Given the description of an element on the screen output the (x, y) to click on. 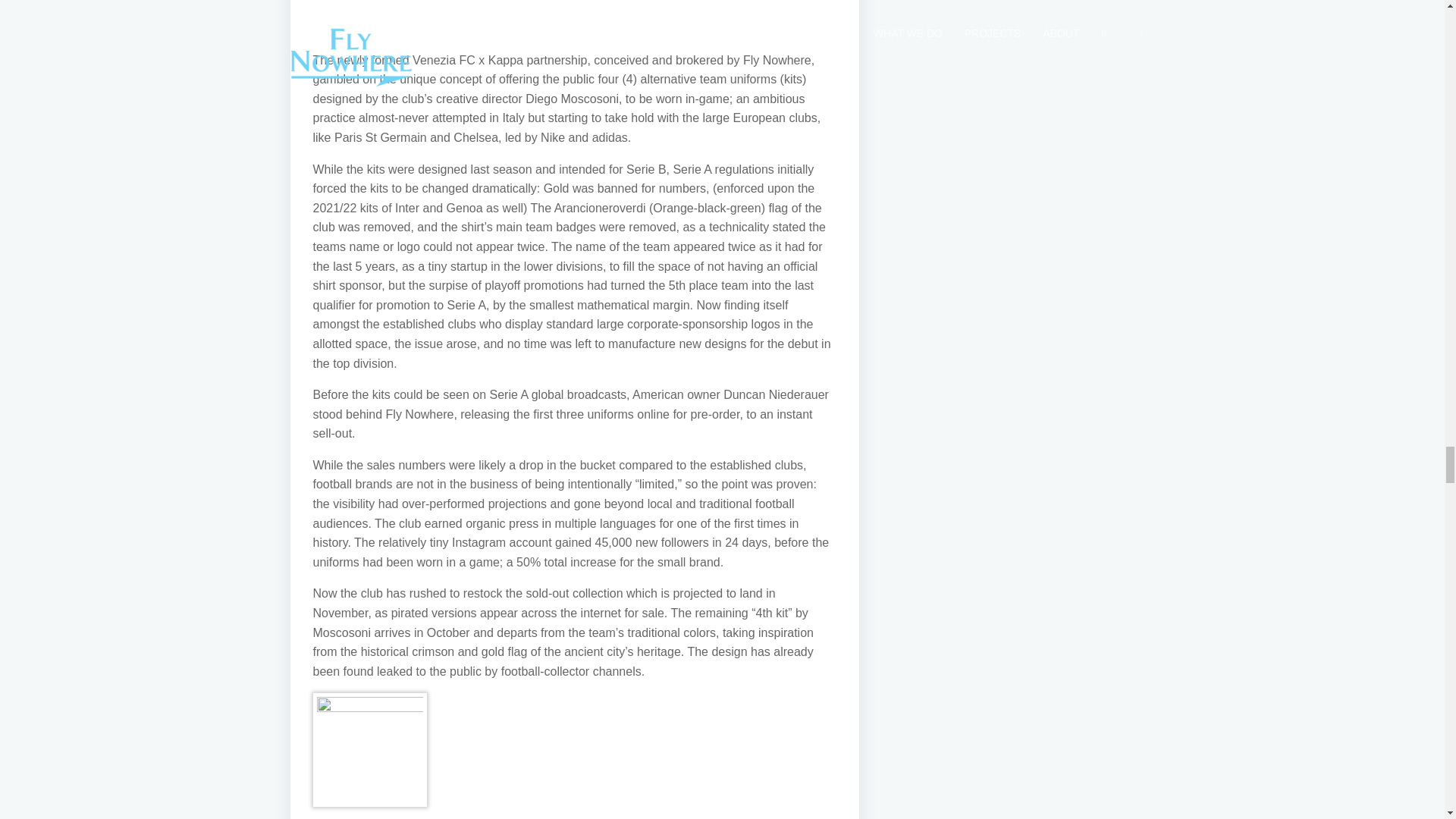
Feature image (574, 7)
